Given the description of an element on the screen output the (x, y) to click on. 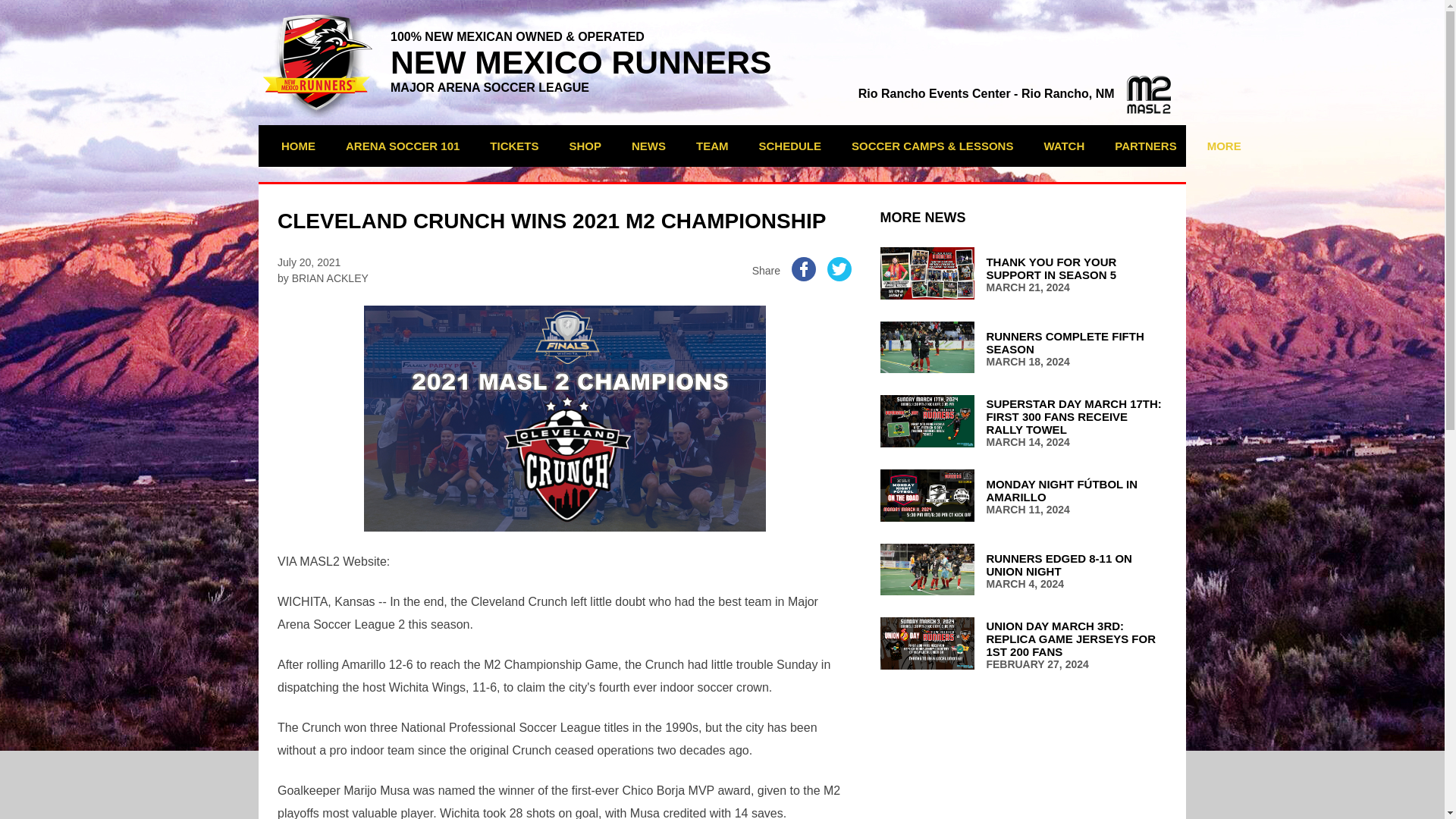
ARENA SOCCER 101 (402, 146)
SCHEDULE (1023, 274)
HOME (790, 146)
Rio Rancho Events Center - Rio Rancho, NM (297, 146)
WATCH (1014, 92)
